Given the description of an element on the screen output the (x, y) to click on. 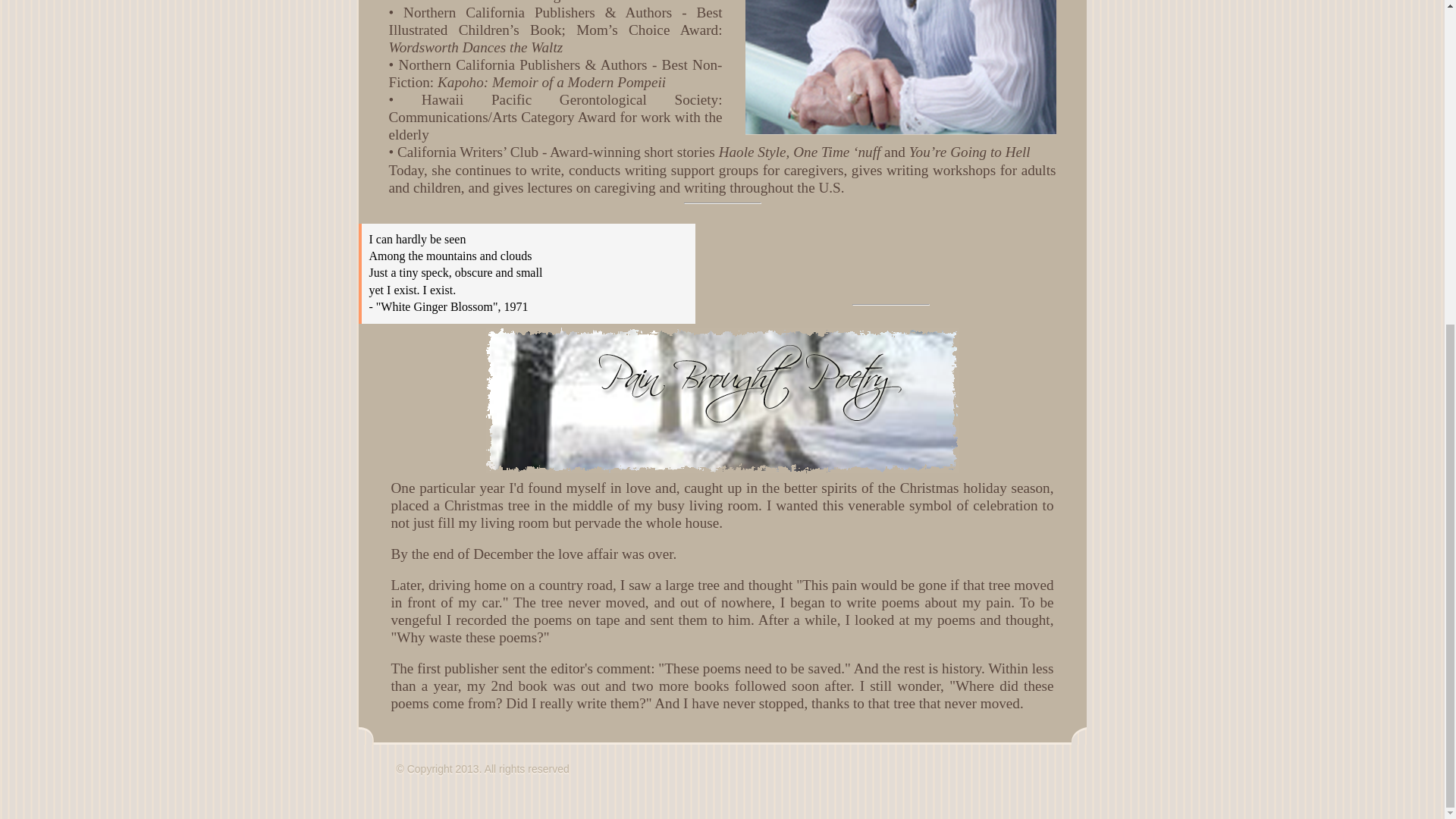
facebook (376, 771)
